Given the description of an element on the screen output the (x, y) to click on. 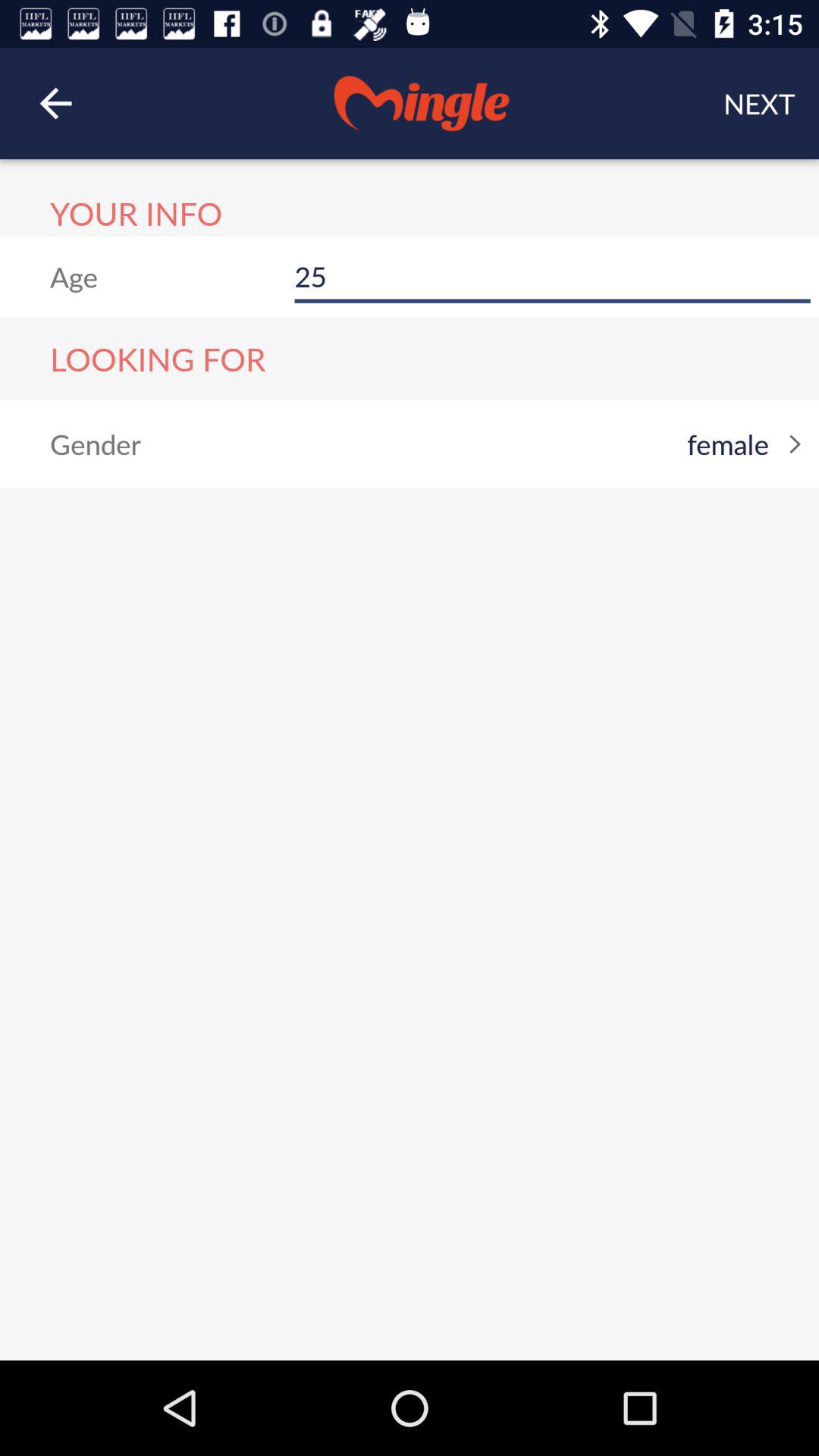
choose next item (759, 103)
